Given the description of an element on the screen output the (x, y) to click on. 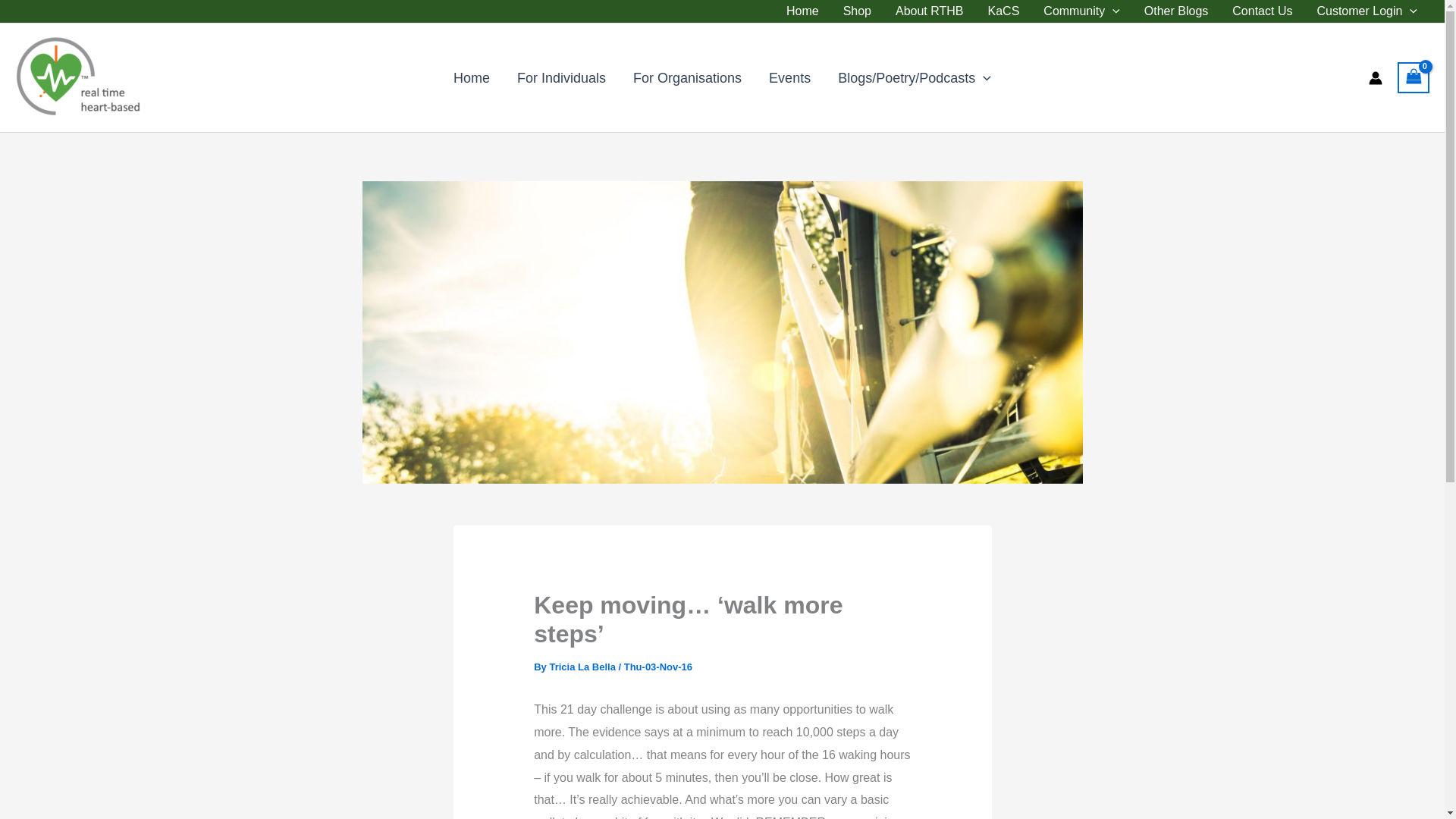
For Organisations (687, 76)
Home (471, 76)
About RTHB (929, 11)
Contact Us (1262, 11)
For Individuals (561, 76)
Events (789, 76)
Other Blogs (1176, 11)
Customer Login (1366, 11)
Shop (857, 11)
Home (802, 11)
Community (1081, 11)
View all posts by Tricia La Bella (582, 666)
KaCS (1003, 11)
